Given the description of an element on the screen output the (x, y) to click on. 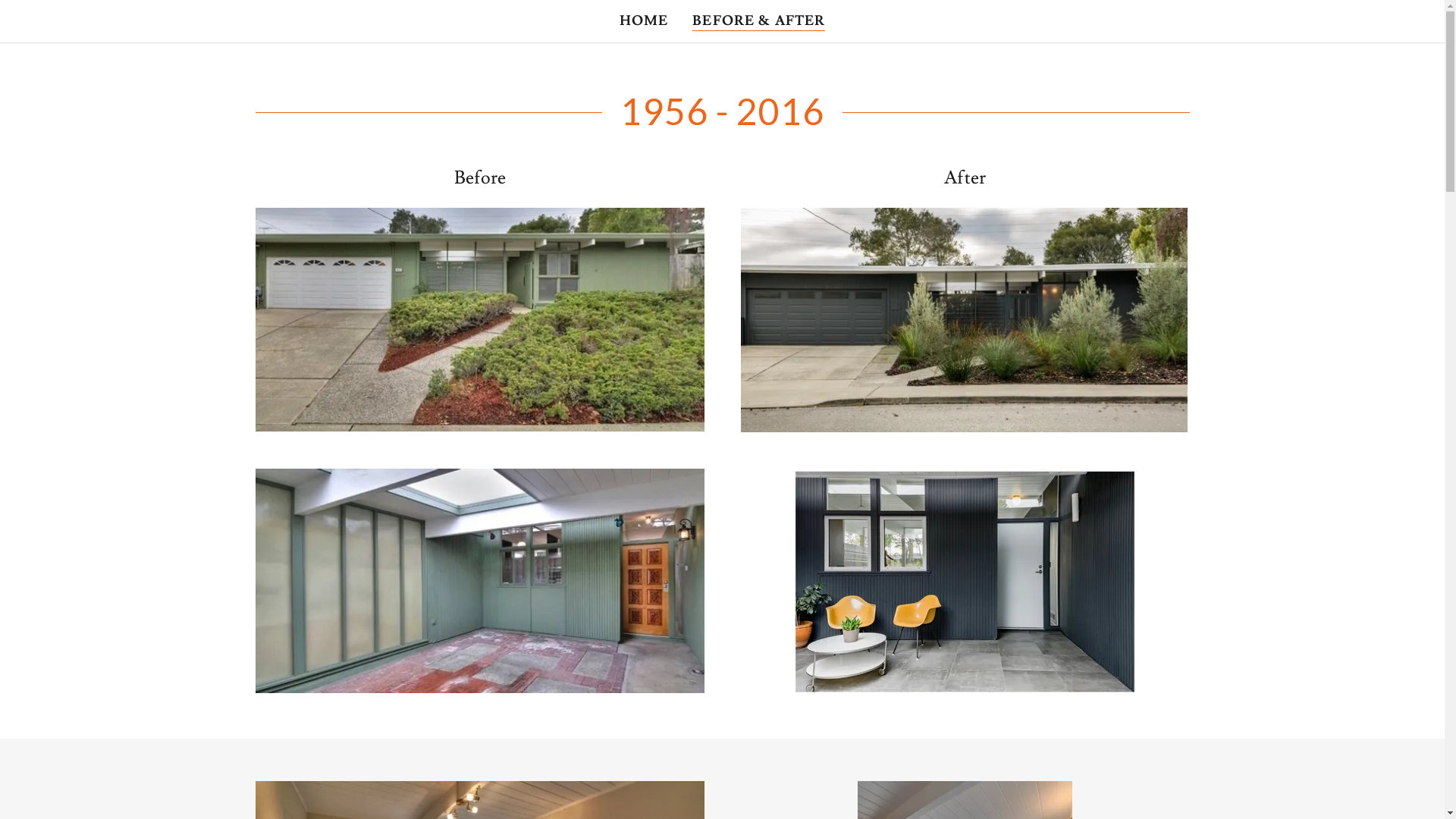
BEFORE & AFTER Element type: text (758, 21)
HOME Element type: text (644, 20)
